Given the description of an element on the screen output the (x, y) to click on. 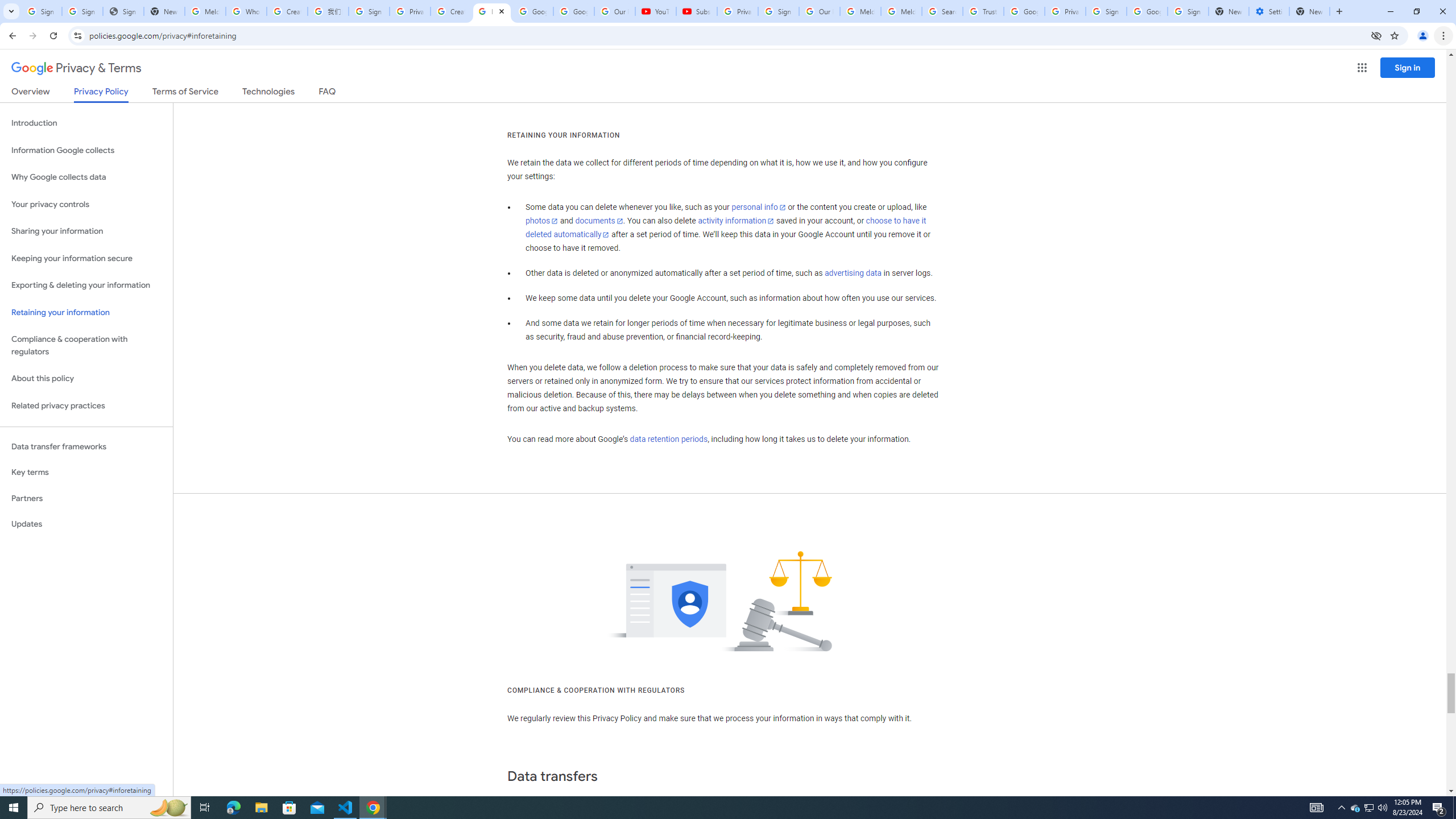
data retention periods (667, 439)
Partners (86, 497)
Data transfer frameworks (86, 446)
Trusted Information and Content - Google Safety Center (983, 11)
Retaining your information (86, 312)
documents (599, 221)
Sign in - Google Accounts (777, 11)
Updates (86, 524)
